Given the description of an element on the screen output the (x, y) to click on. 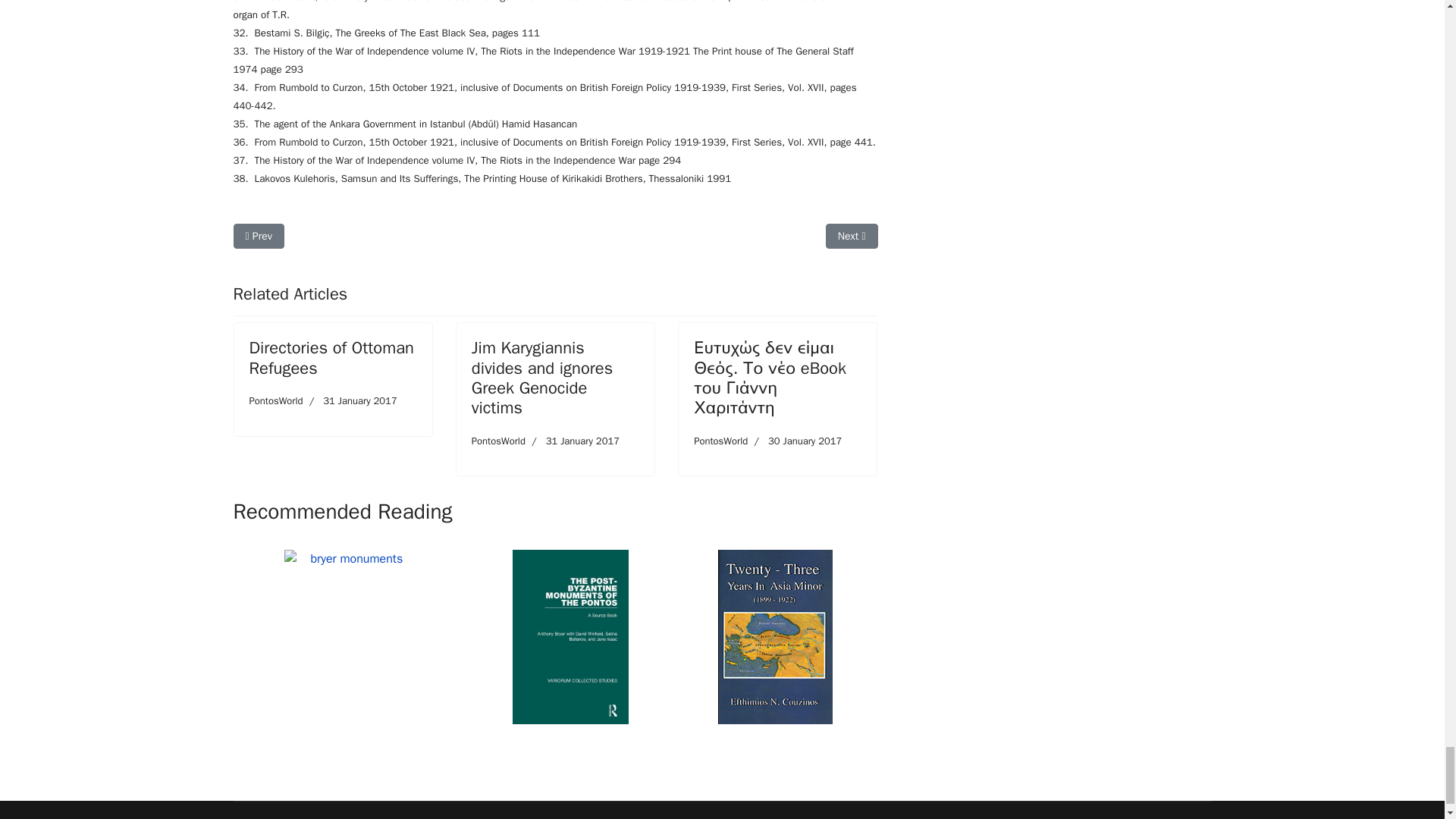
Published: 31 January 2017 (349, 400)
Written by: PontosWorld (275, 400)
Written by: PontosWorld (498, 441)
